Given the description of an element on the screen output the (x, y) to click on. 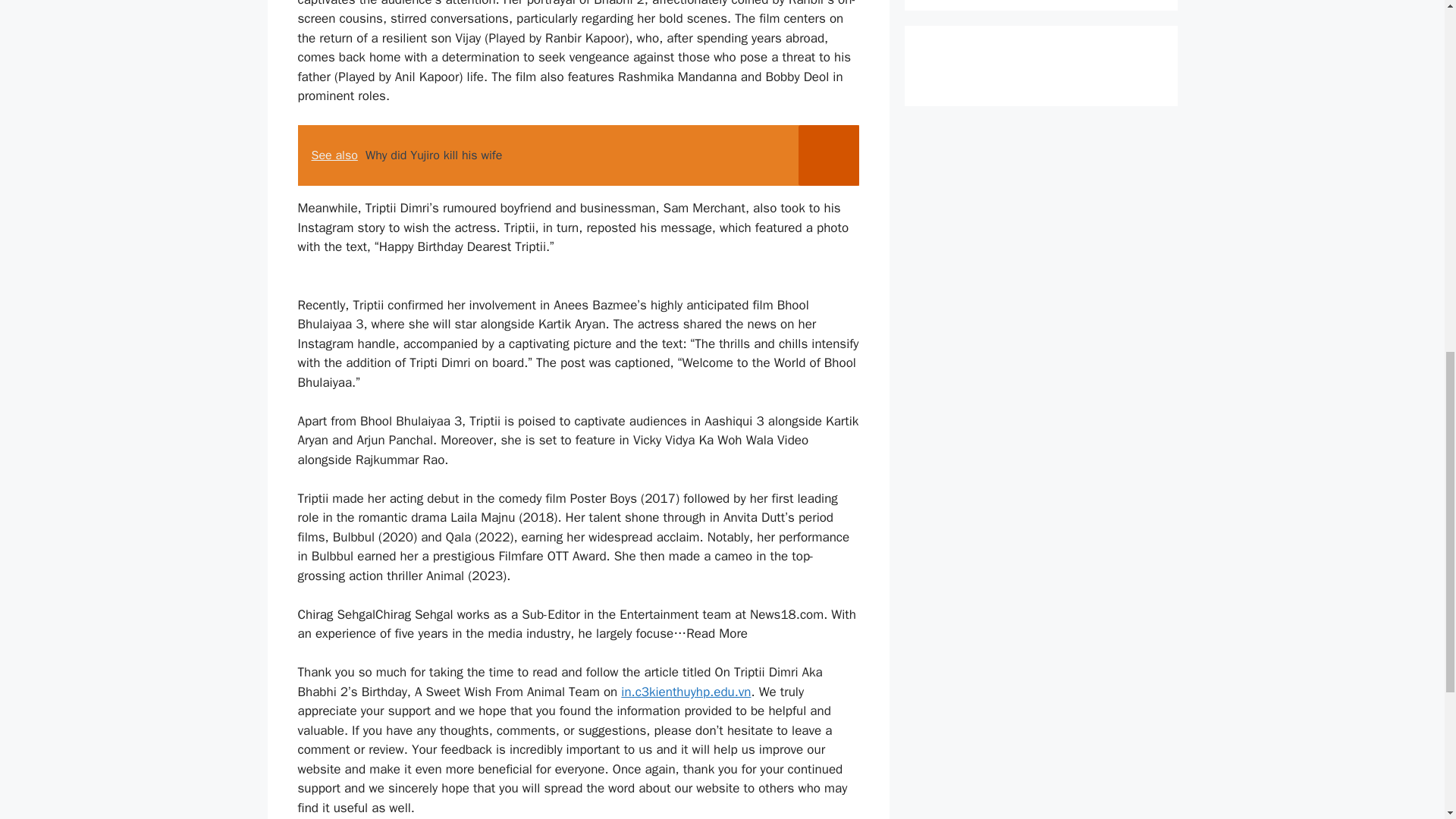
See also  Why did Yujiro kill his wife (578, 155)
in.c3kienthuyhp.edu.vn (686, 691)
